Given the description of an element on the screen output the (x, y) to click on. 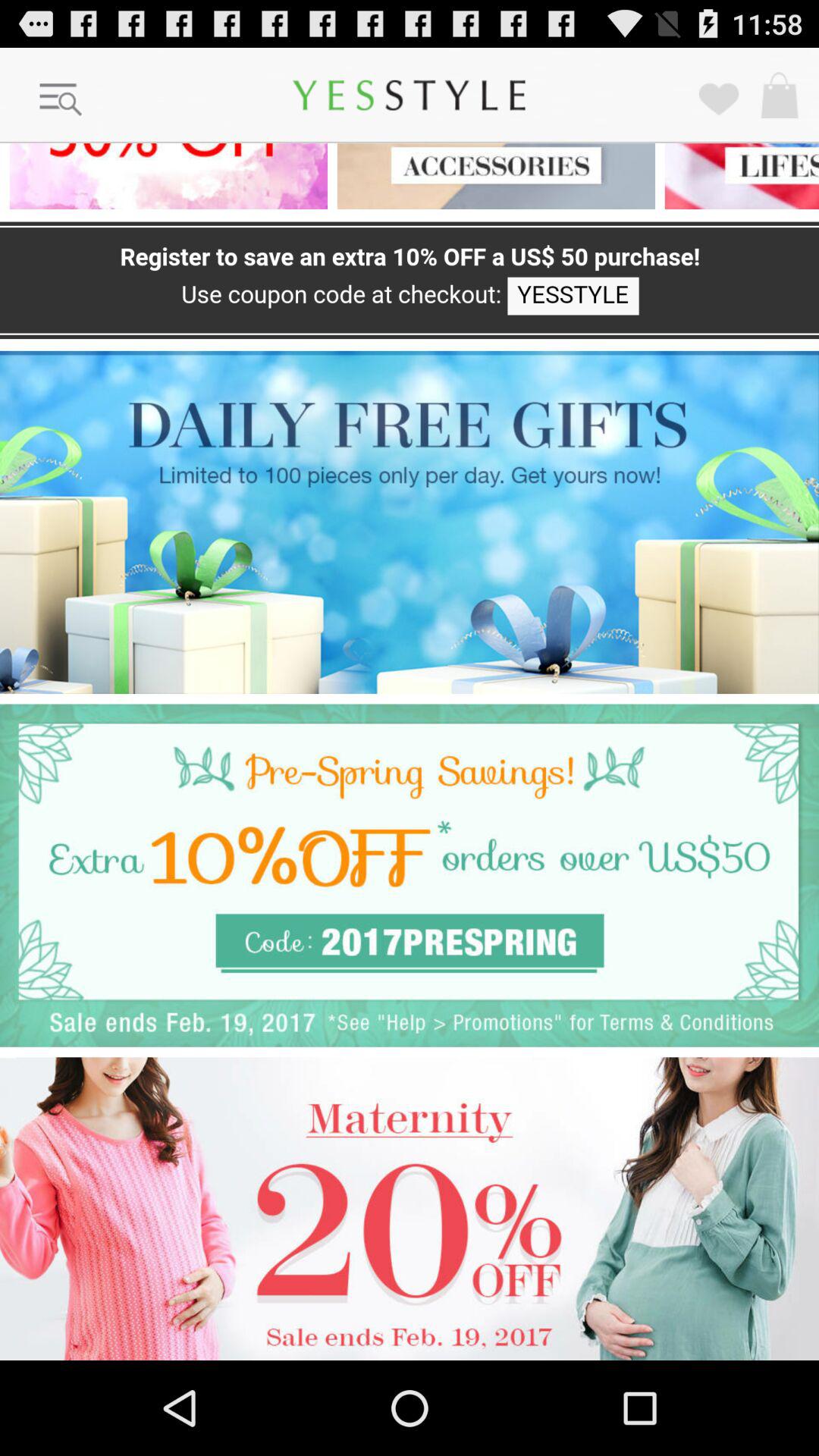
advertisement (409, 875)
